Given the description of an element on the screen output the (x, y) to click on. 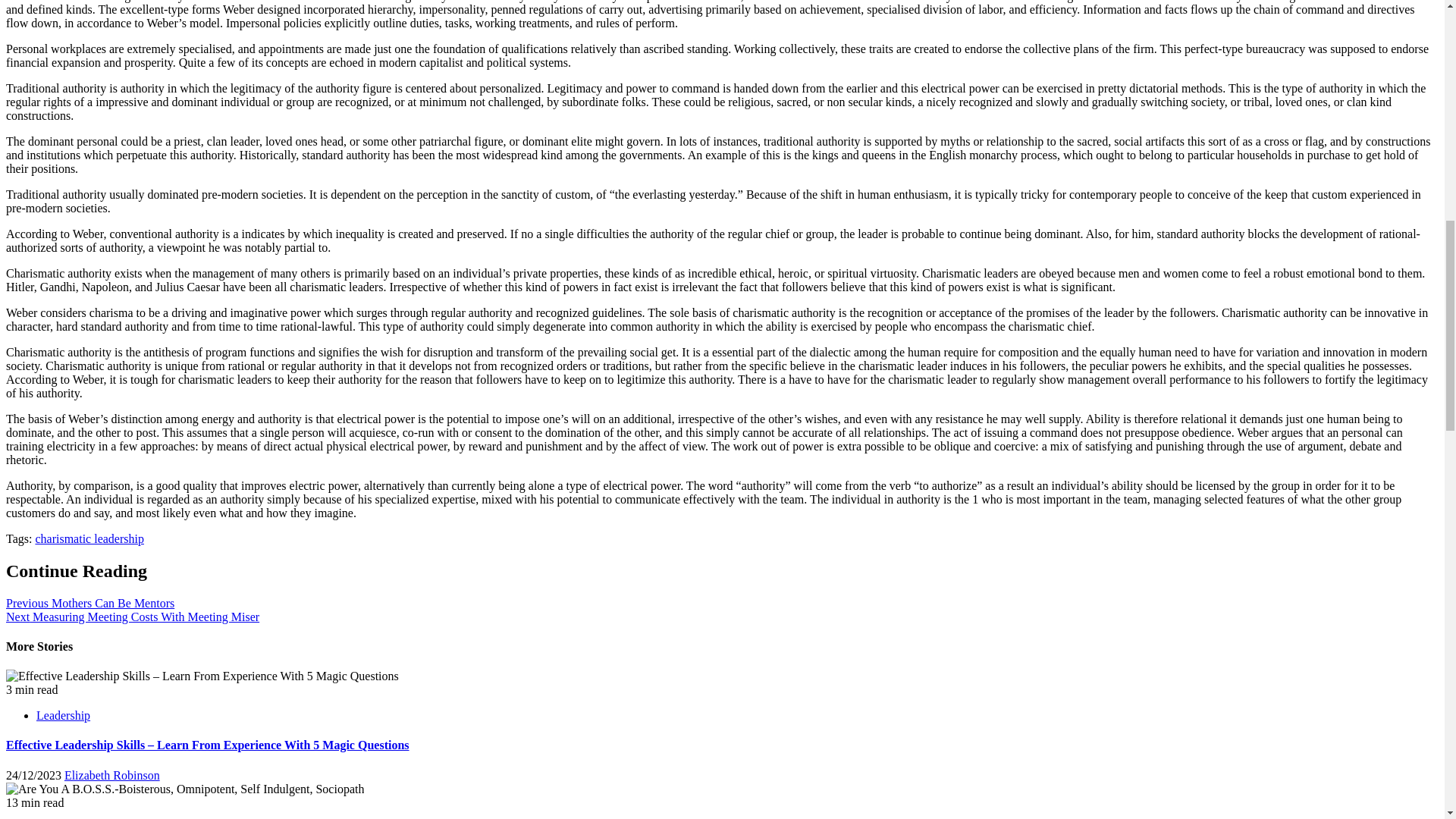
Elizabeth Robinson (112, 775)
Leadership (63, 715)
charismatic leadership (89, 538)
Previous Mothers Can Be Mentors (89, 603)
Next Measuring Meeting Costs With Meeting Miser (132, 616)
